Given the description of an element on the screen output the (x, y) to click on. 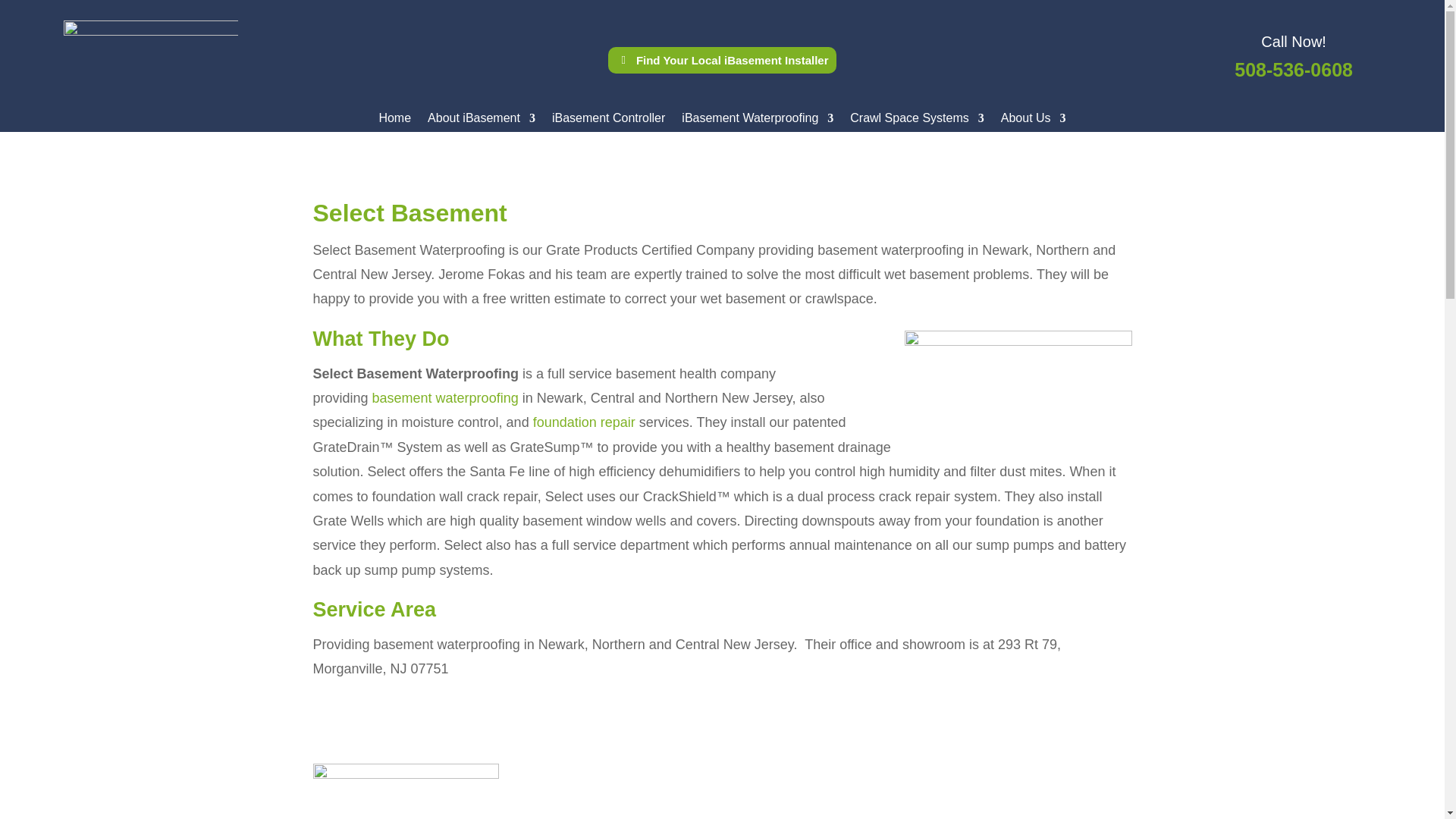
74608-select-basement (405, 791)
About iBasement (481, 121)
508-536-0608 (1293, 69)
Find Your Local iBasement Installer (721, 59)
Home (394, 121)
ibasement (151, 50)
About Us (1033, 121)
iBasement Waterproofing (756, 121)
Crawl Space Systems (917, 121)
basement waterproofing (445, 397)
iBasement Controller (608, 121)
foundation repair (583, 421)
